Given the description of an element on the screen output the (x, y) to click on. 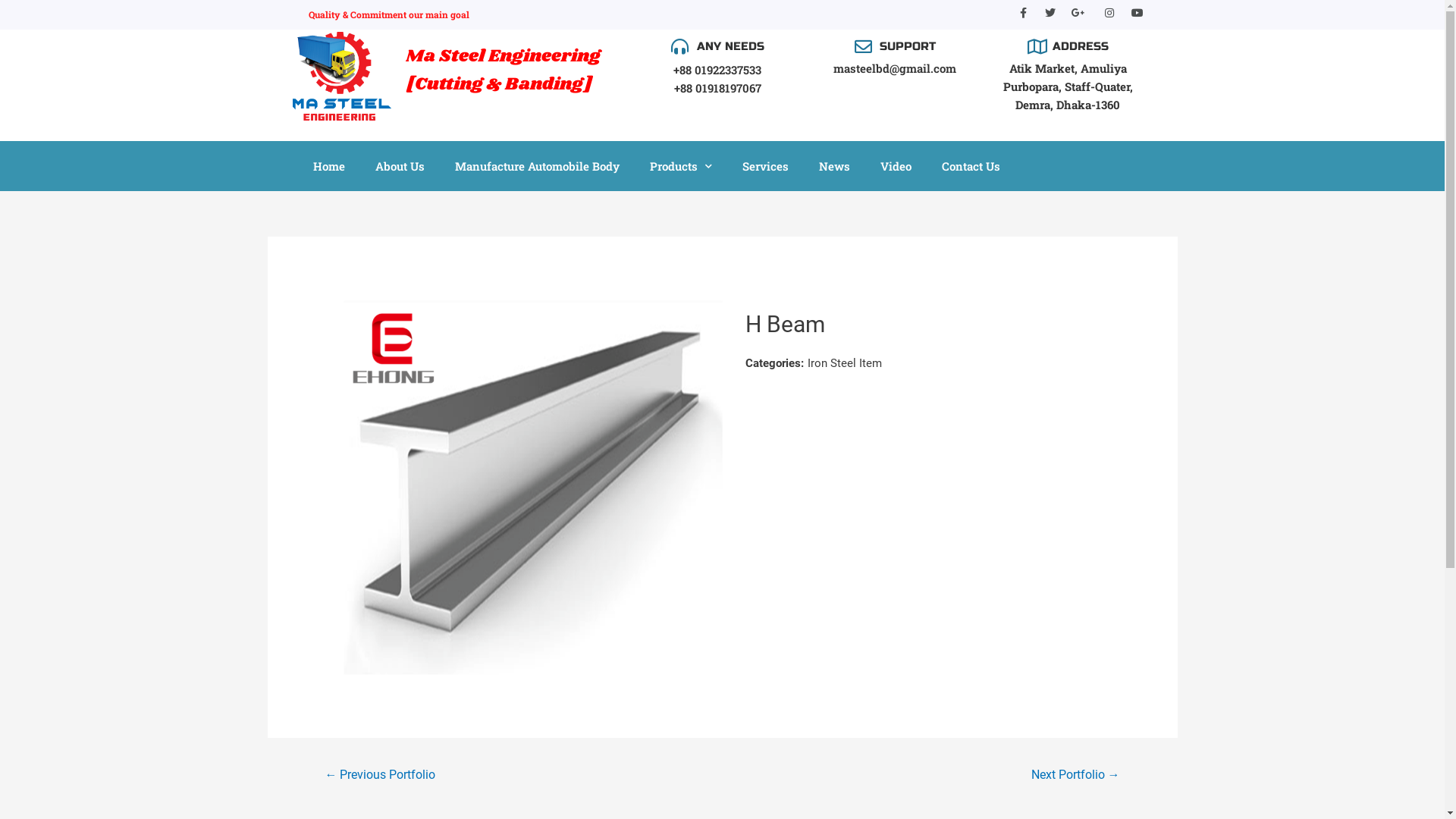
Home Element type: text (328, 165)
Services Element type: text (764, 165)
Products Element type: text (679, 165)
News Element type: text (834, 165)
About Us Element type: text (399, 165)
Contact Us Element type: text (970, 165)
Video Element type: text (894, 165)
Manufacture Automobile Body Element type: text (536, 165)
